Given the description of an element on the screen output the (x, y) to click on. 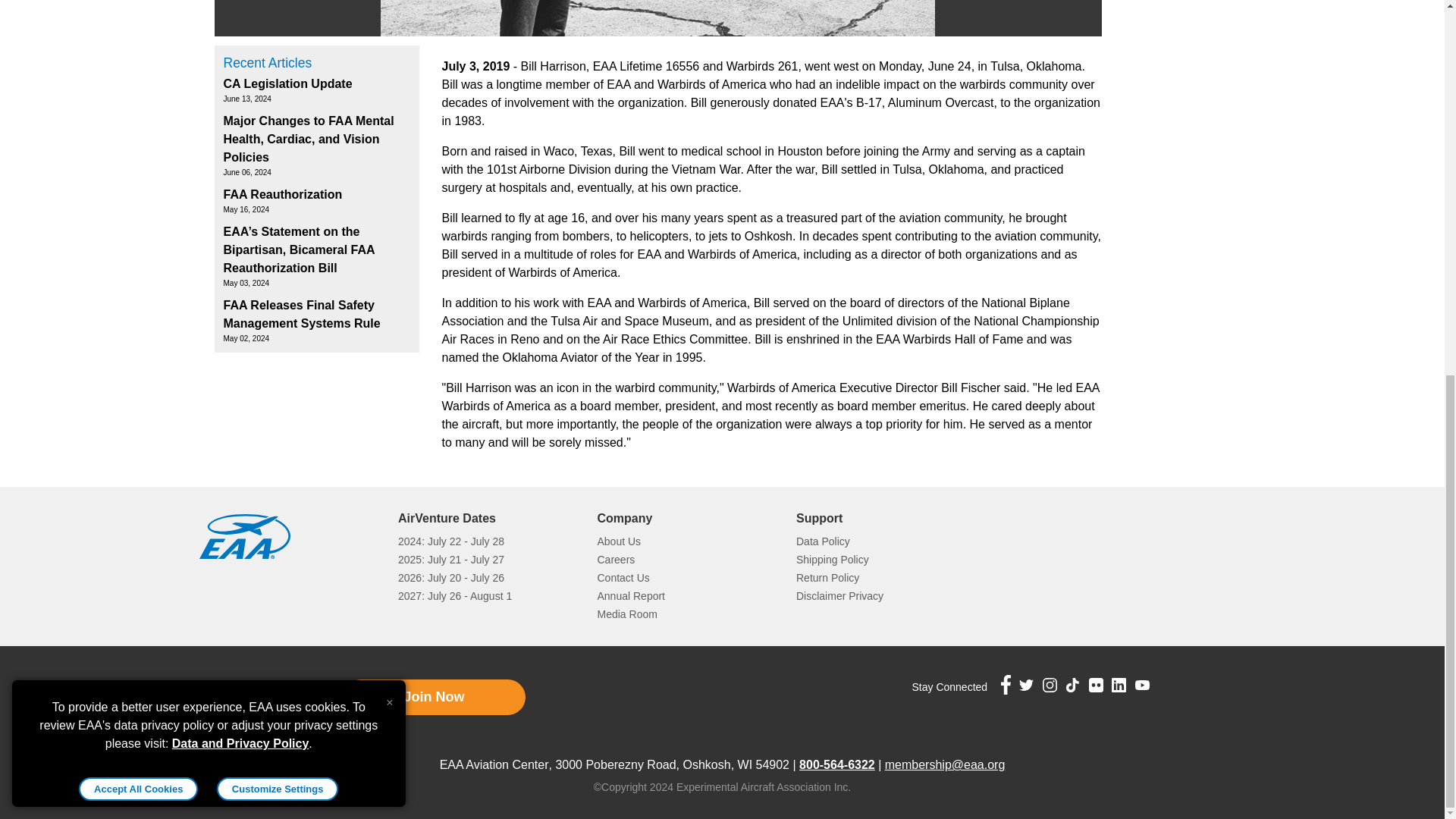
Join Now (433, 696)
